Given the description of an element on the screen output the (x, y) to click on. 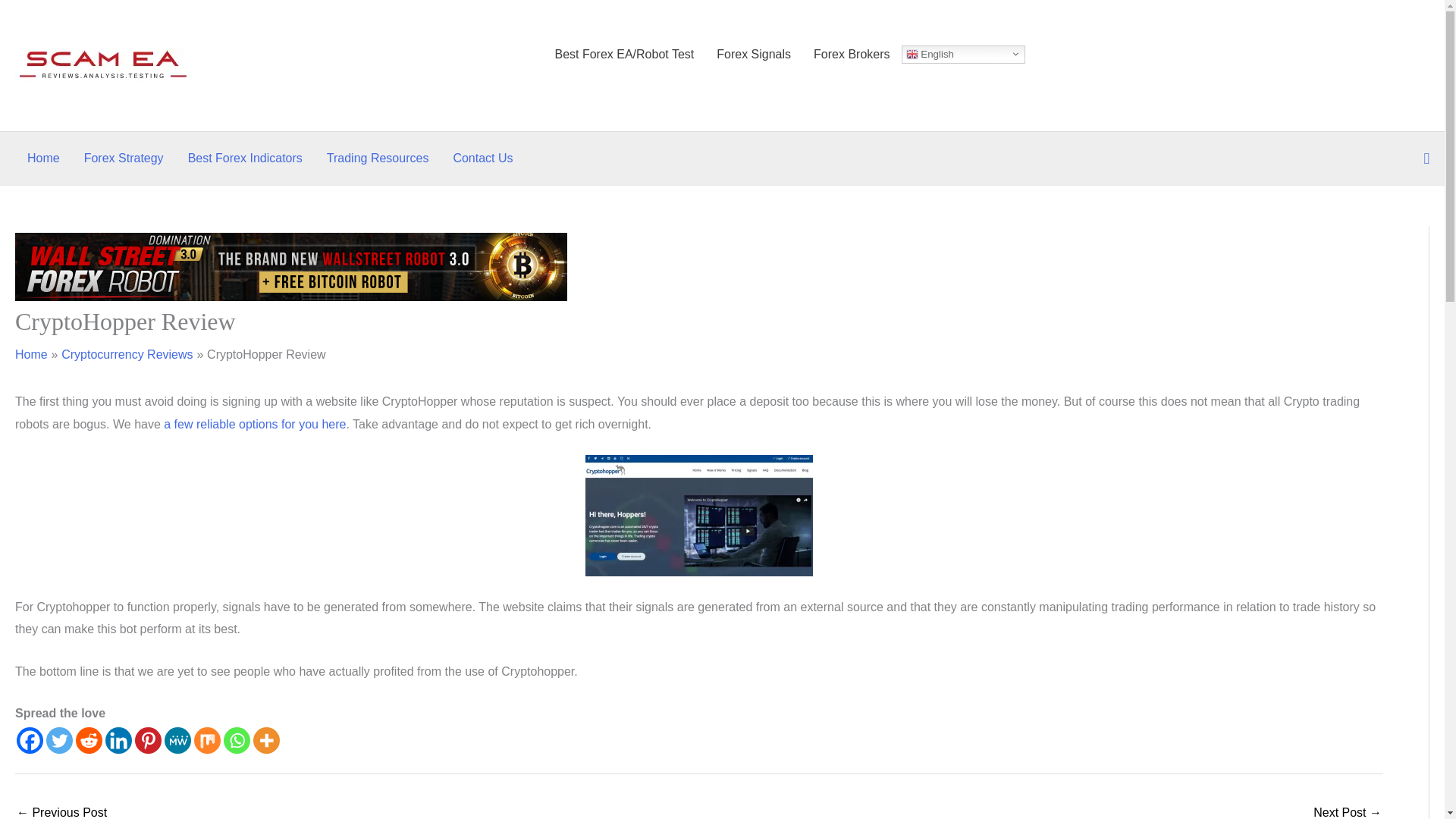
Forex Strategy (123, 158)
a few reliable options for you here (254, 423)
Best Forex Indicators (245, 158)
Facebook (29, 740)
Contact Us (482, 158)
Cryptocurrency Reviews (126, 354)
Home (31, 354)
English (963, 54)
Home (42, 158)
Trading Resources (377, 158)
